Given the description of an element on the screen output the (x, y) to click on. 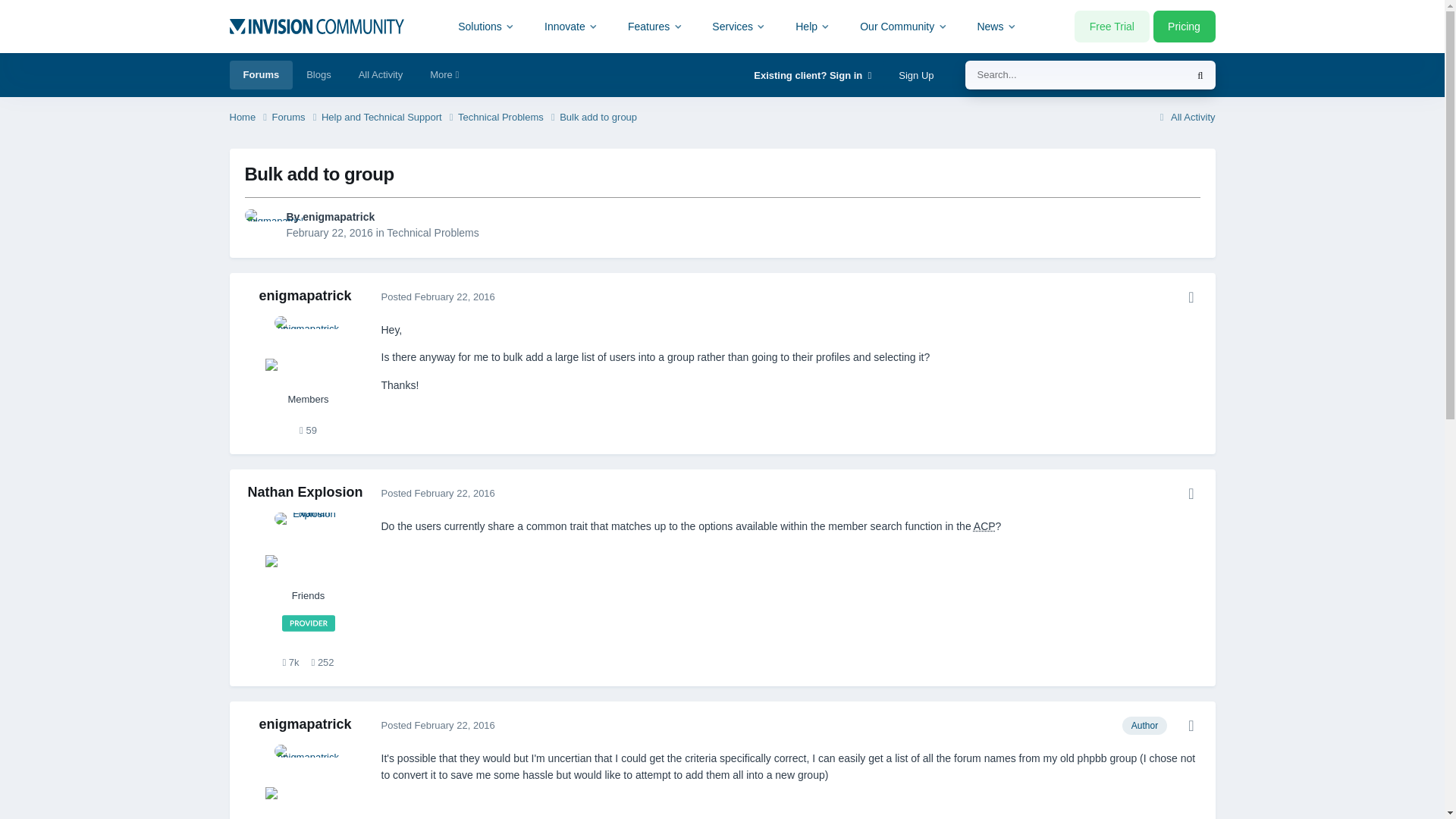
Solutions (486, 26)
Services (738, 26)
Help (812, 26)
Features (654, 26)
Innovate (570, 26)
Home (249, 117)
